Given the description of an element on the screen output the (x, y) to click on. 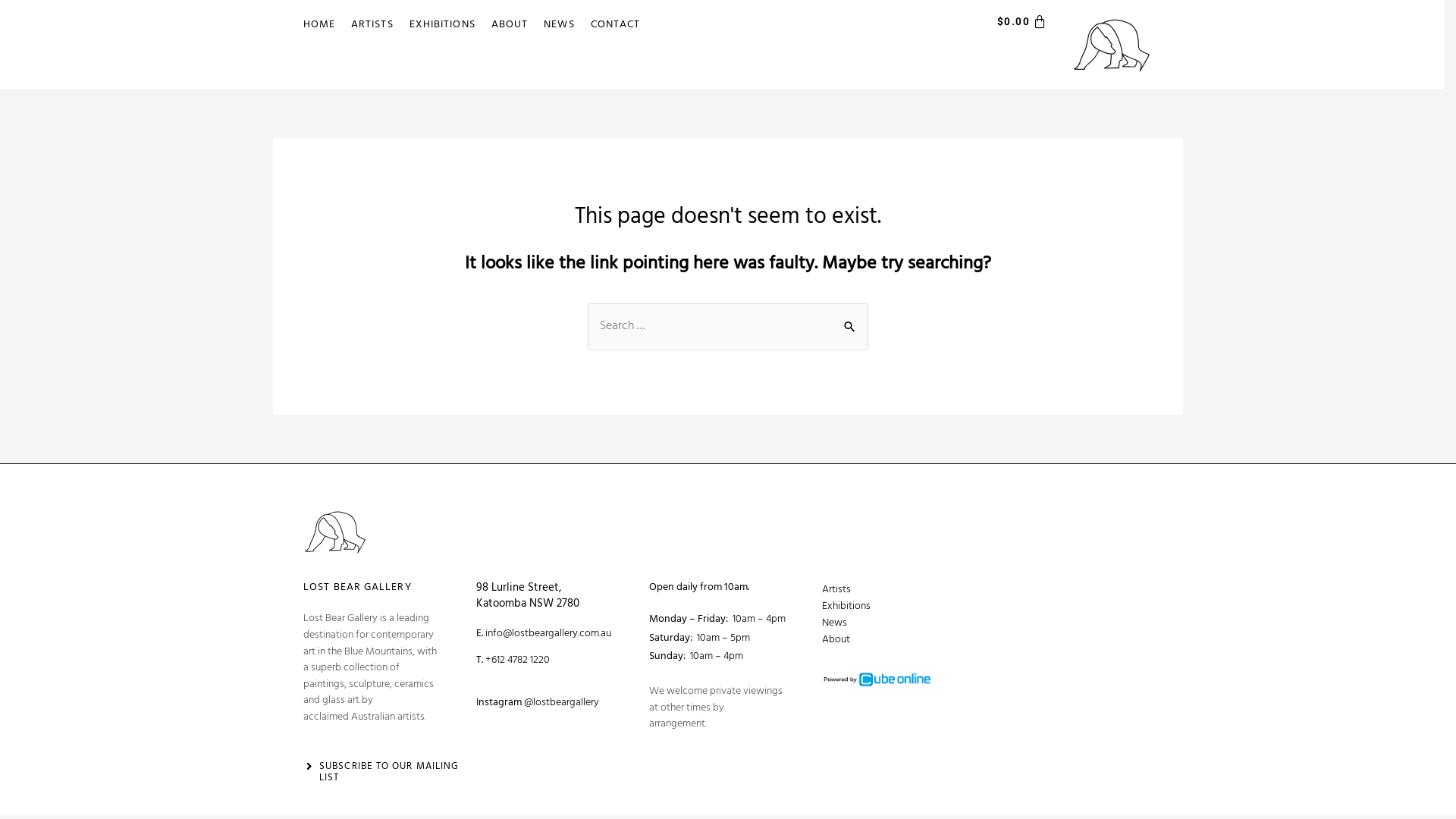
Artists Element type: text (900, 589)
@lostbeargallery Element type: text (561, 702)
HOME Element type: text (318, 24)
News Element type: text (900, 623)
Exhibitions Element type: text (900, 606)
98 Lurline Street,
Katoomba NSW 2780 Element type: text (527, 595)
EXHIBITIONS Element type: text (442, 24)
$0.00 Element type: text (1022, 22)
SUBSCRIBE TO OUR MAILING LIST Element type: text (388, 771)
ABOUT Element type: text (509, 24)
CONTACT Element type: text (615, 24)
info@lostbeargallery.com.au Element type: text (548, 633)
NEWS Element type: text (558, 24)
About Element type: text (900, 639)
ARTISTS Element type: text (371, 24)
+612 4782 1220 Element type: text (517, 659)
Search Element type: text (851, 318)
